Given the description of an element on the screen output the (x, y) to click on. 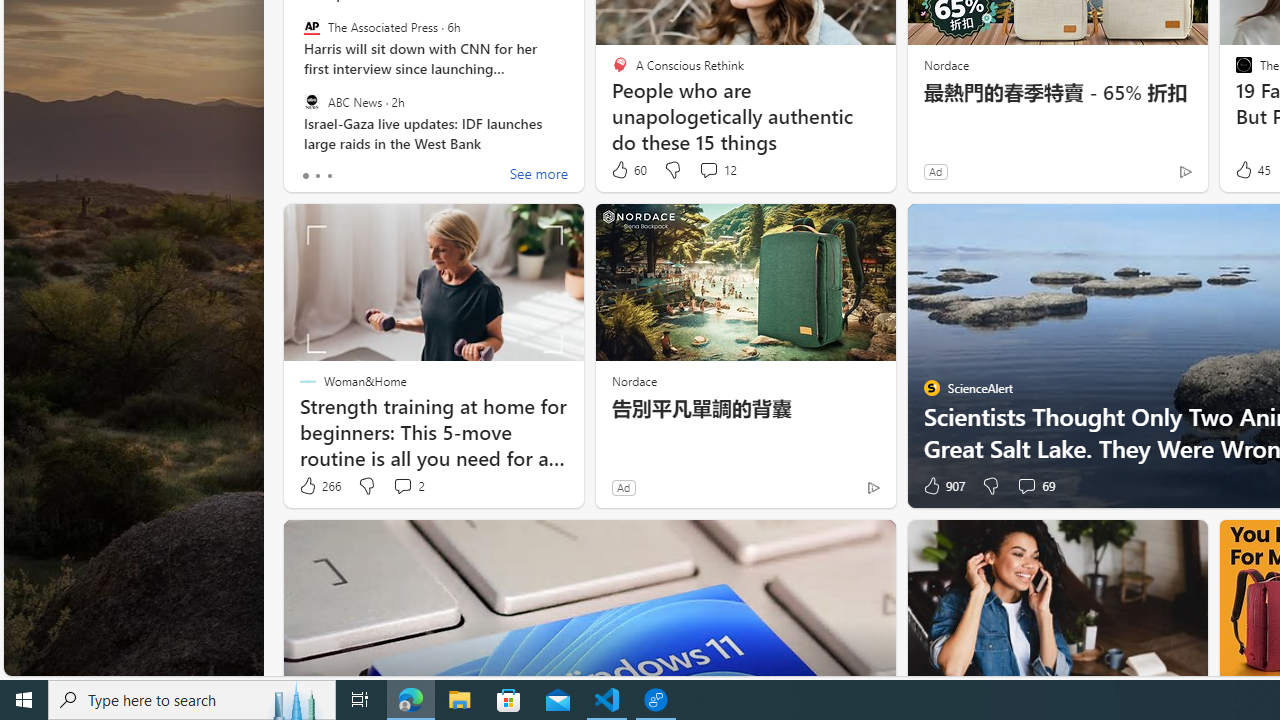
View comments 12 Comment (708, 169)
ABC News (311, 101)
View comments 69 Comment (1035, 485)
907 Like (942, 485)
View comments 2 Comment (402, 485)
tab-1 (317, 175)
